Given the description of an element on the screen output the (x, y) to click on. 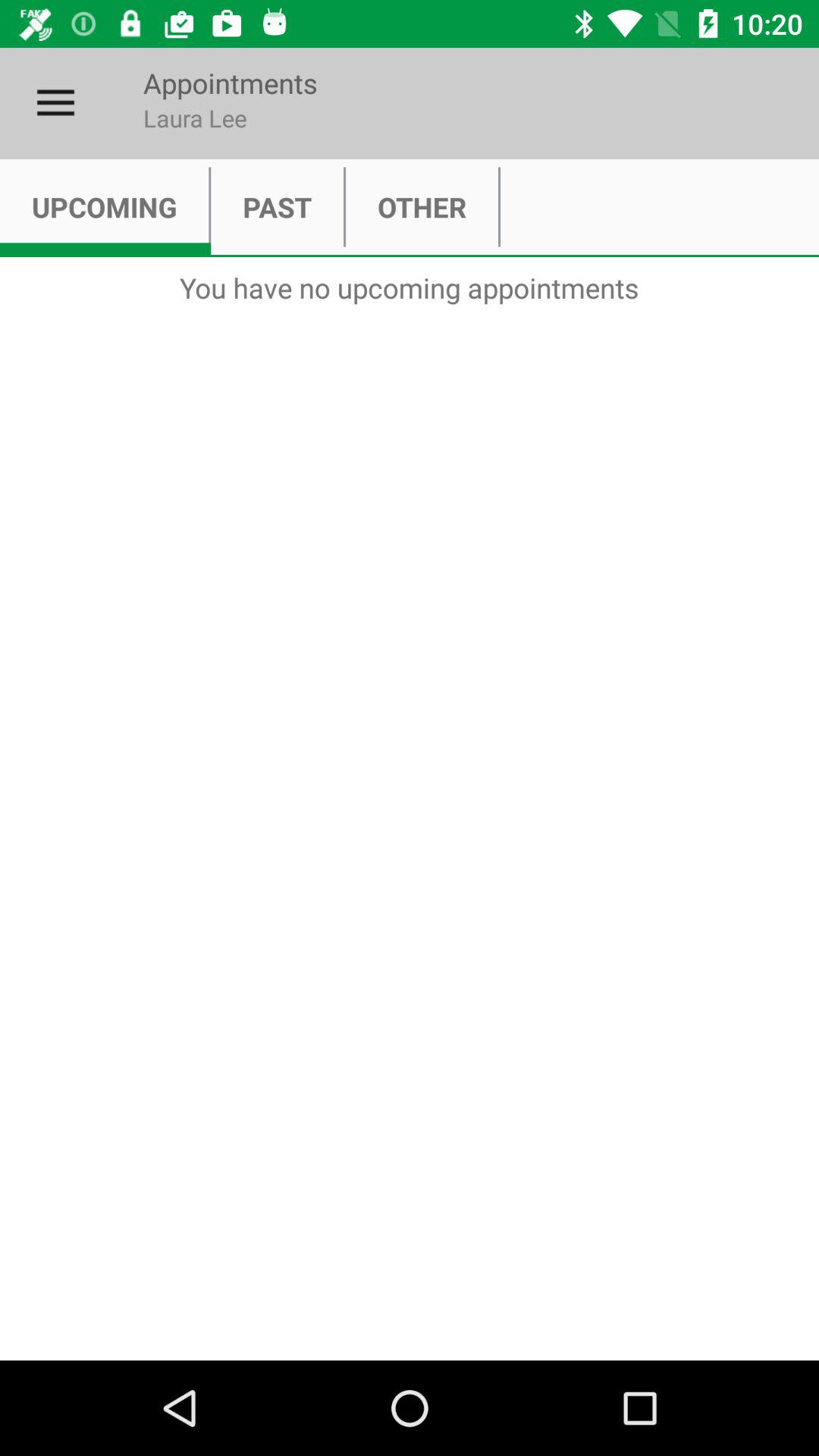
click item next to appointments item (55, 103)
